Given the description of an element on the screen output the (x, y) to click on. 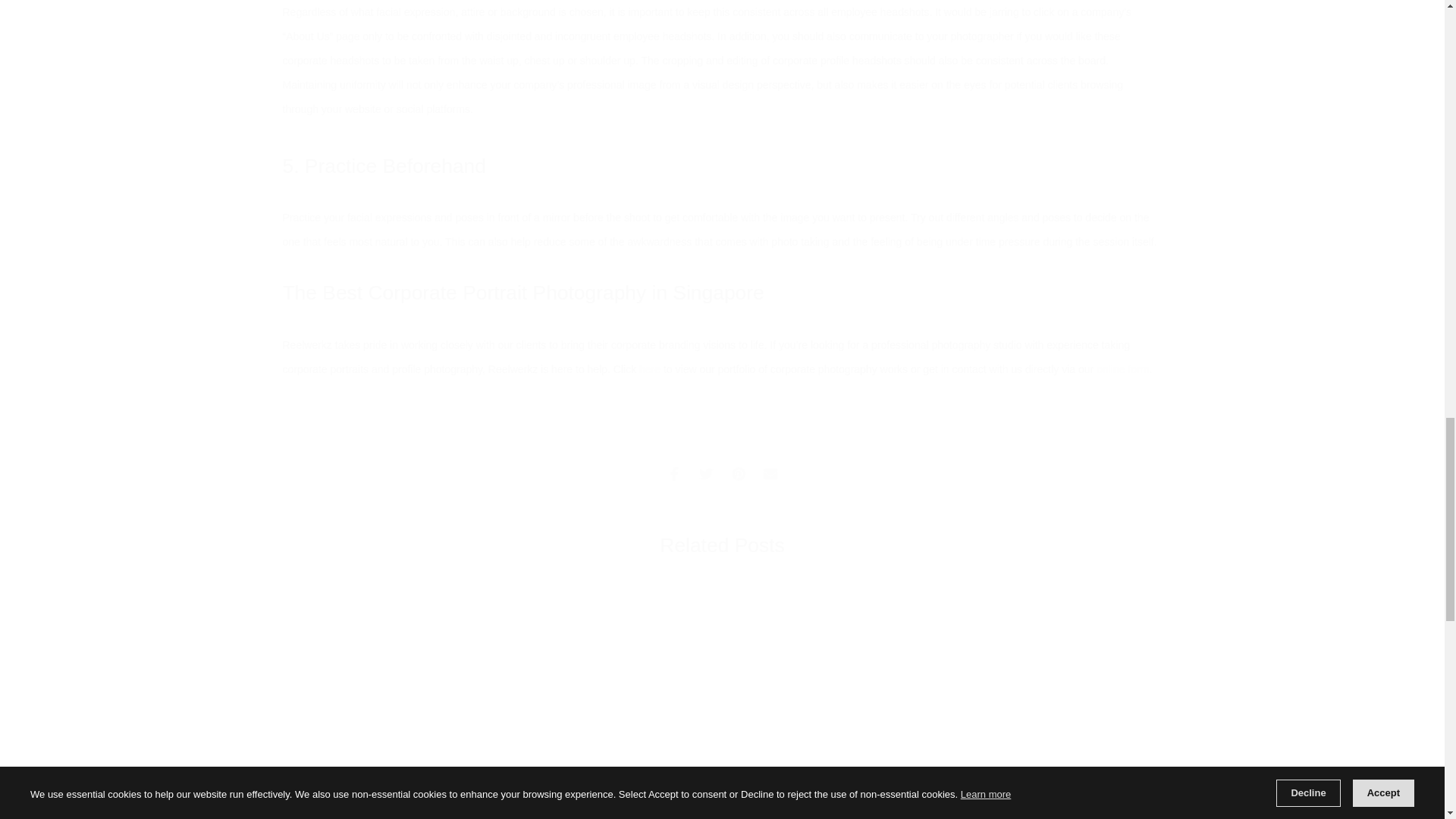
here (650, 369)
online form (1122, 369)
